Given the description of an element on the screen output the (x, y) to click on. 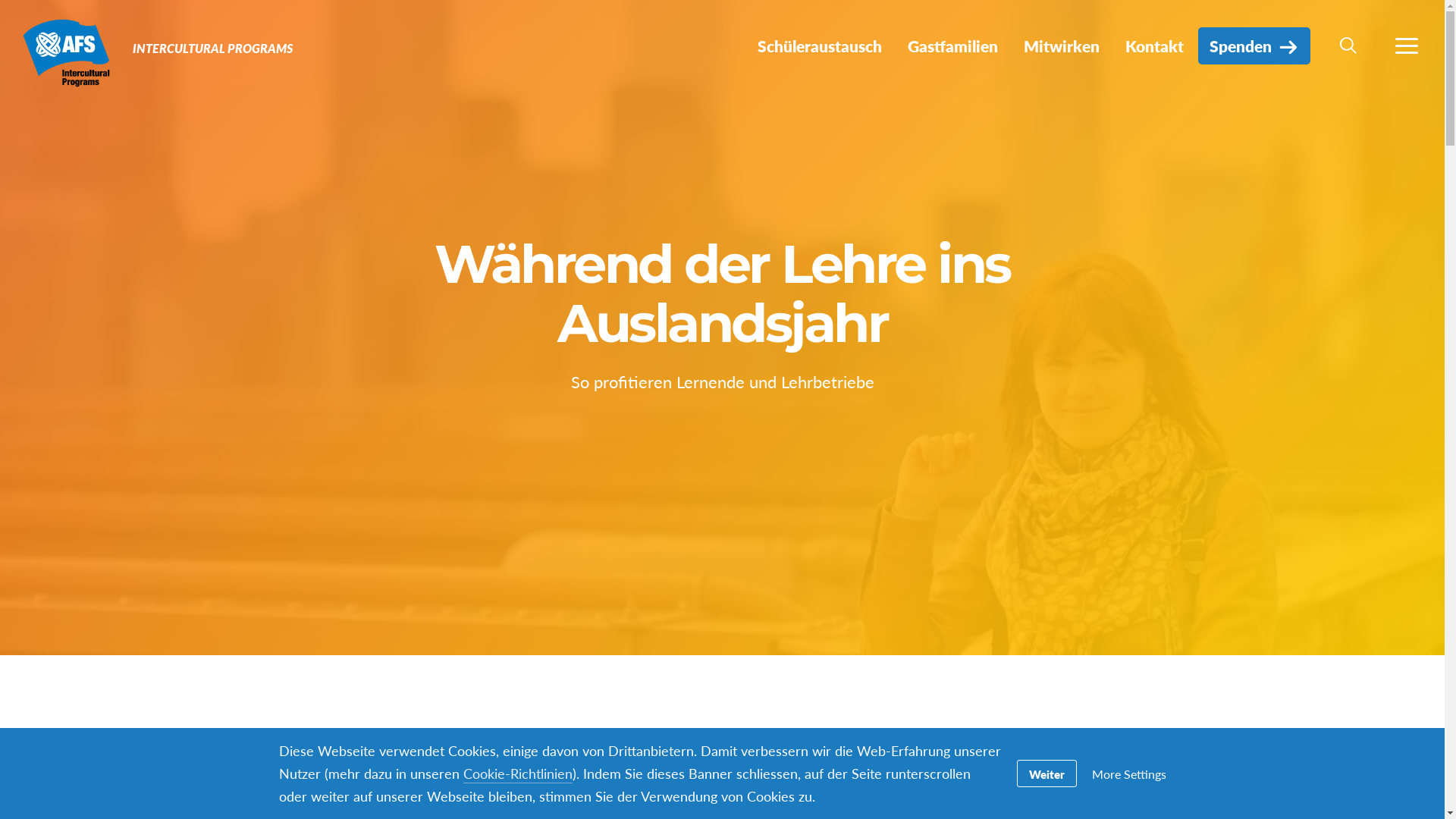
More Settings Element type: text (1129, 772)
Spenden Element type: text (1254, 45)
Cookie-Richtlinien Element type: text (516, 773)
INTERCULTURAL PROGRAMS Element type: text (212, 47)
Kontakt Element type: text (1154, 45)
Weiter Element type: text (1046, 773)
Intercultural Programs Element type: text (65, 51)
Gastfamilien Element type: text (952, 45)
Mitwirken Element type: text (1061, 45)
SUCHE Element type: text (1347, 45)
